Given the description of an element on the screen output the (x, y) to click on. 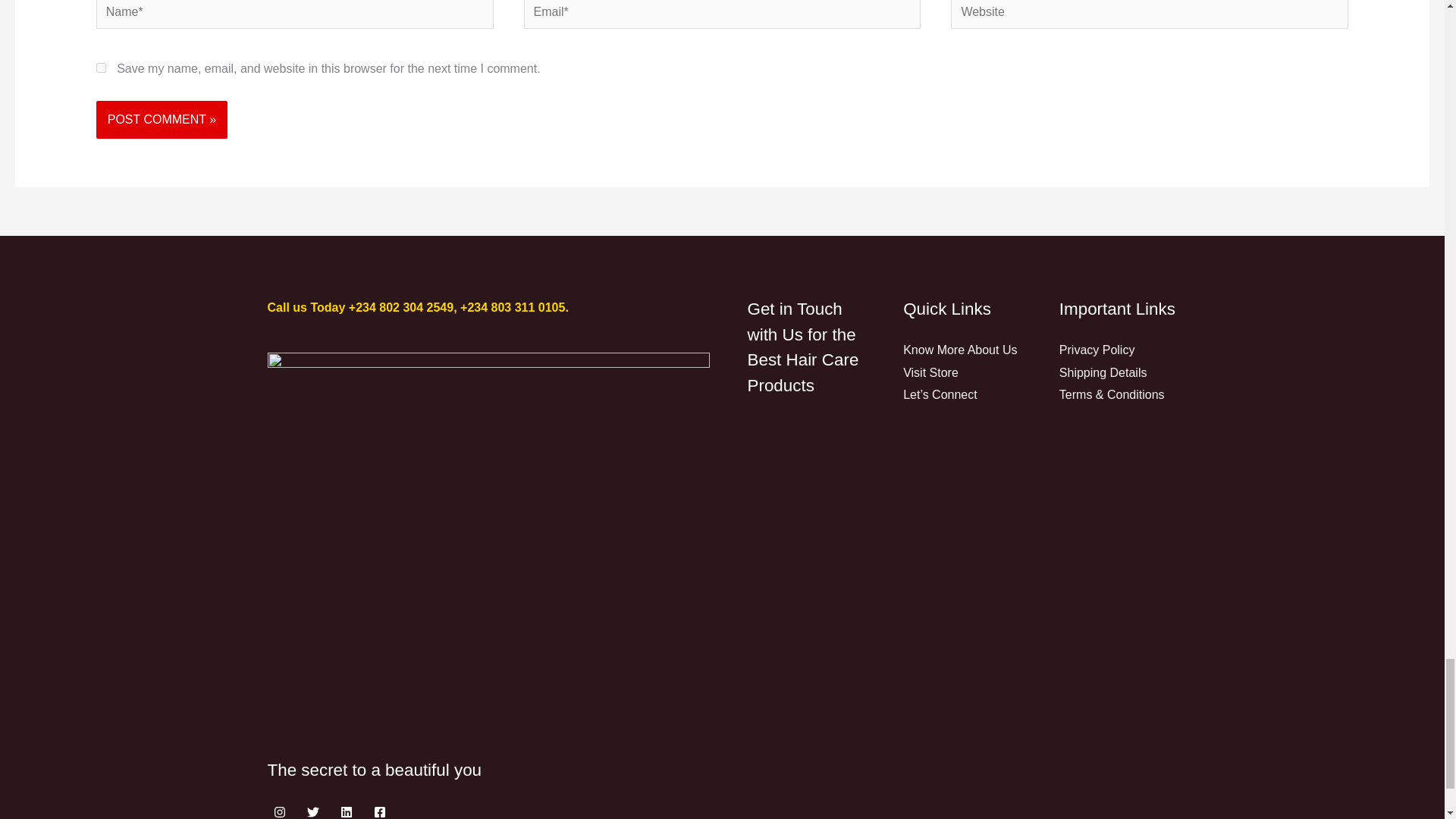
Visit Store (930, 372)
yes (101, 67)
Know More About Us (959, 349)
